Given the description of an element on the screen output the (x, y) to click on. 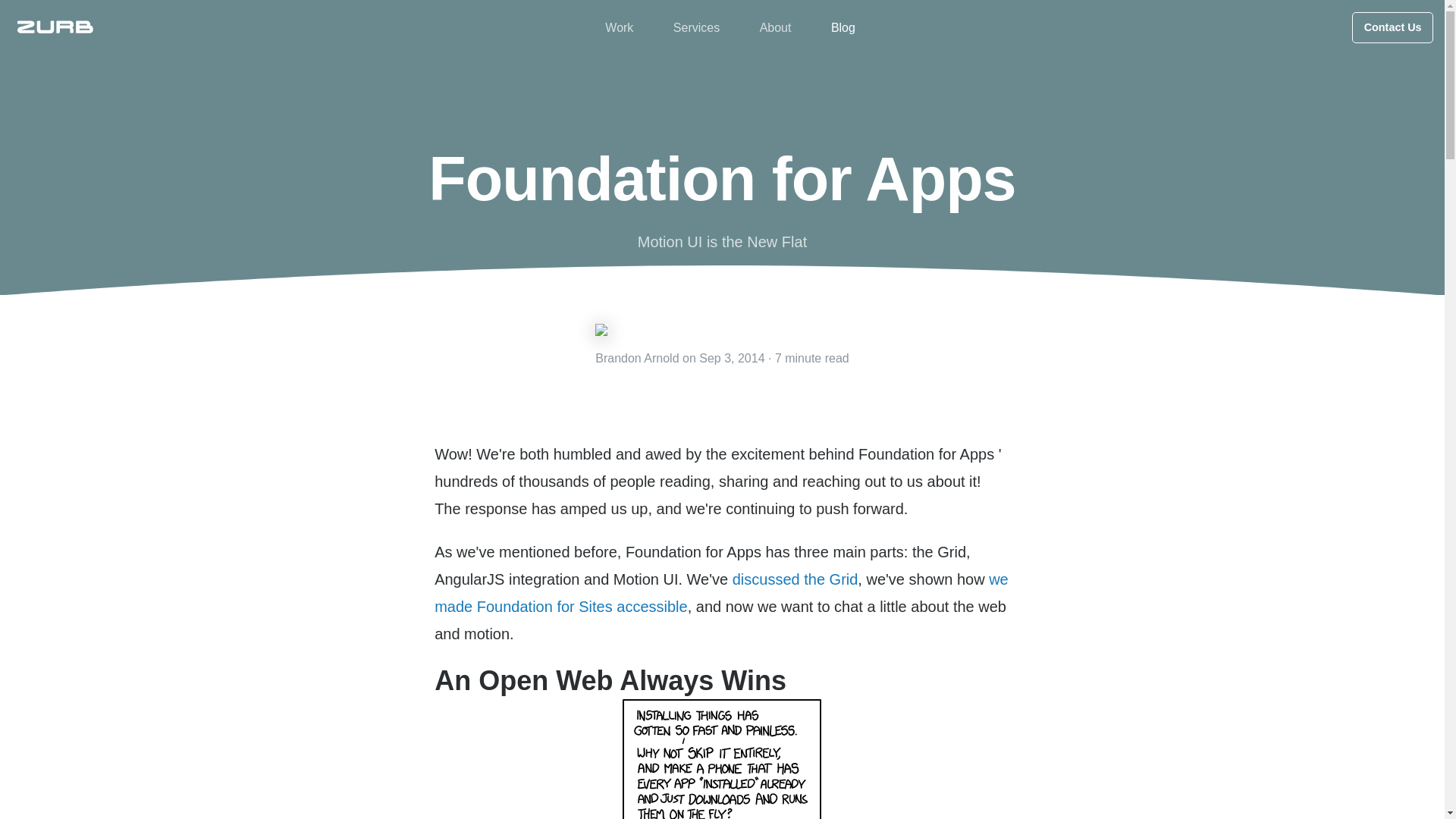
About (776, 27)
Services (695, 27)
discussed the Grid (795, 579)
we made Foundation for Sites accessible (721, 592)
Work (619, 27)
Contact Us (1392, 27)
Blog (843, 27)
